Given the description of an element on the screen output the (x, y) to click on. 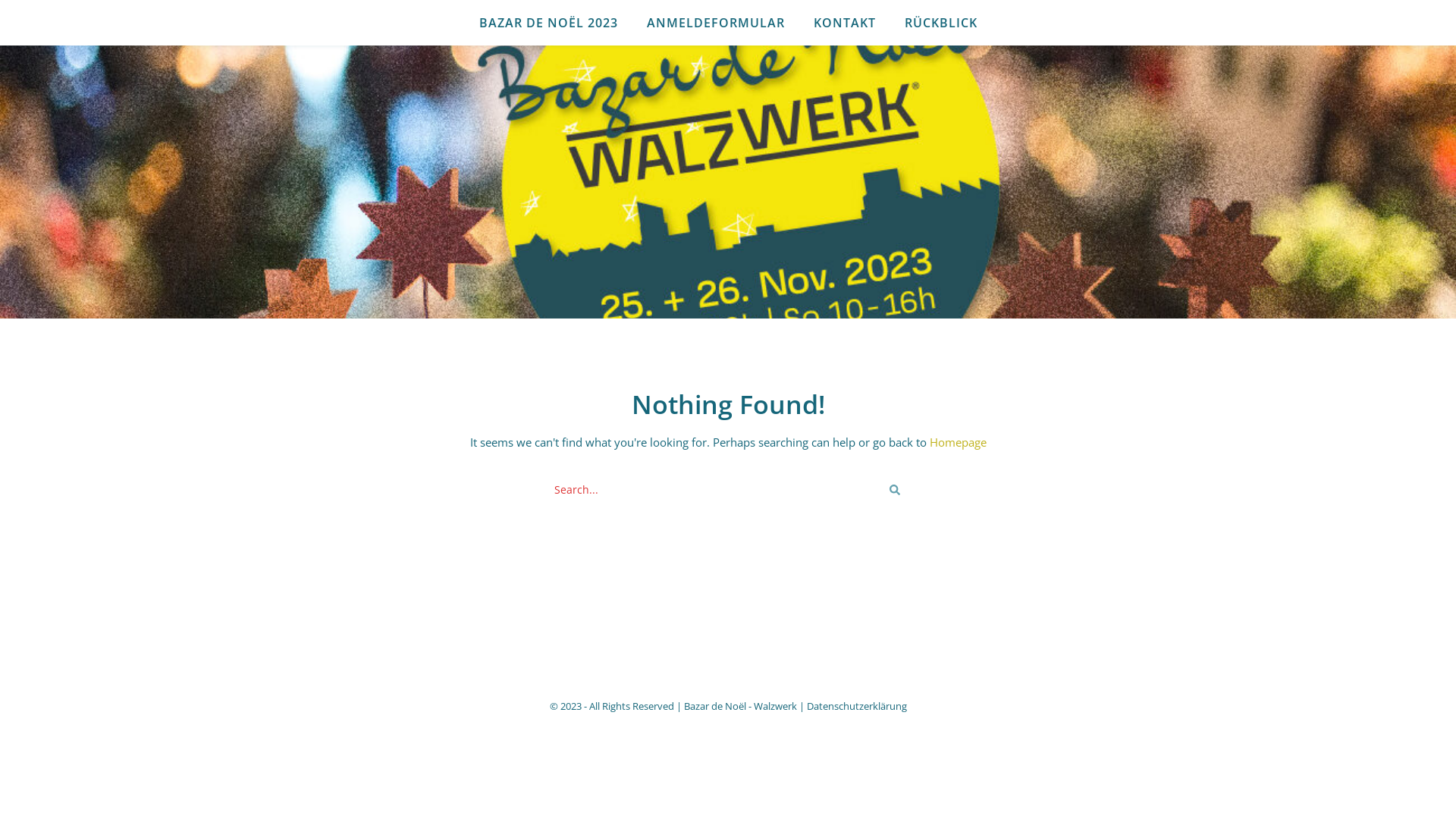
KONTAKT Element type: text (844, 22)
ANMELDEFORMULAR Element type: text (715, 22)
Homepage Element type: text (957, 441)
st Element type: text (894, 489)
